Given the description of an element on the screen output the (x, y) to click on. 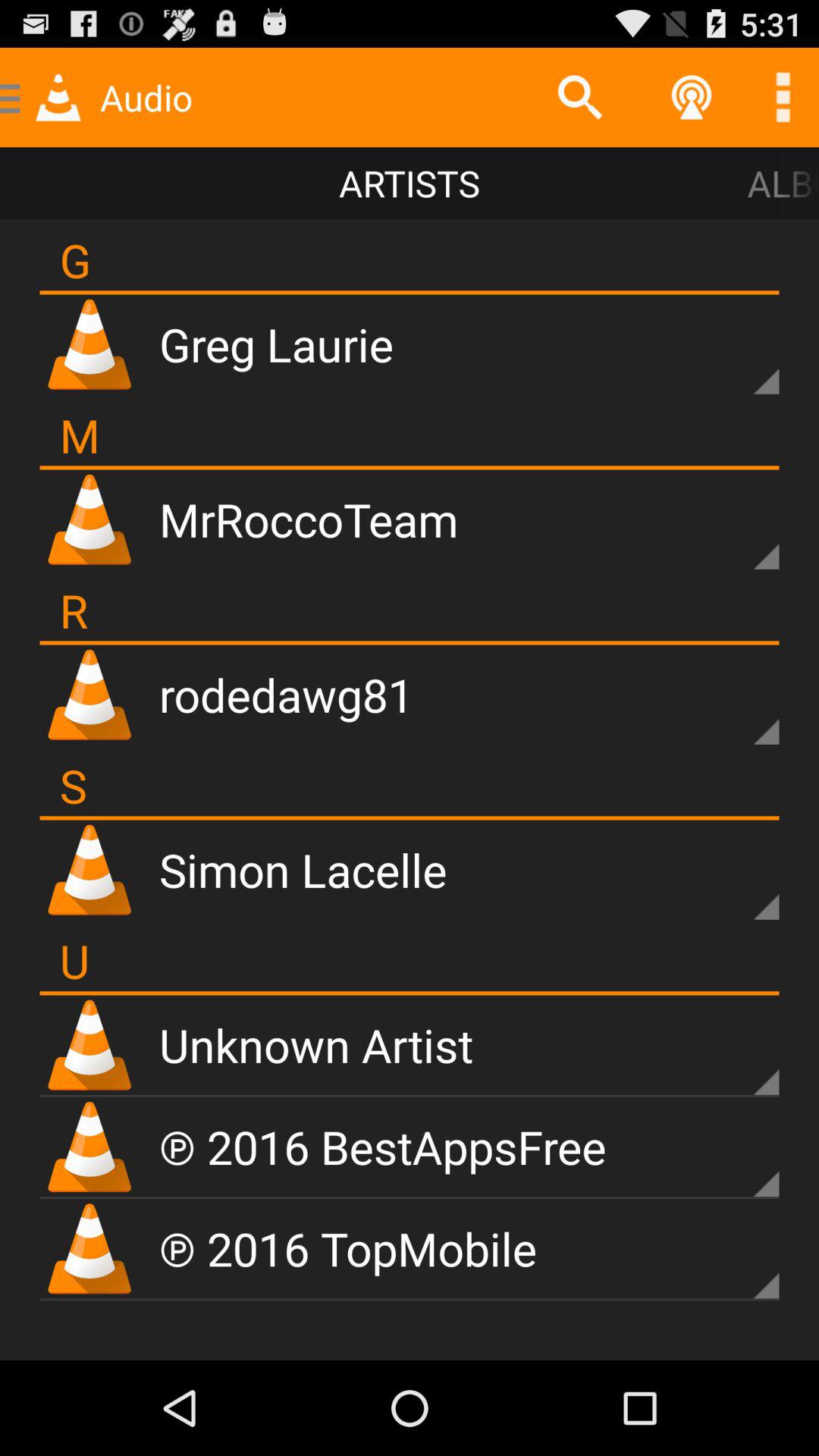
see drop down menu (740, 1056)
